Given the description of an element on the screen output the (x, y) to click on. 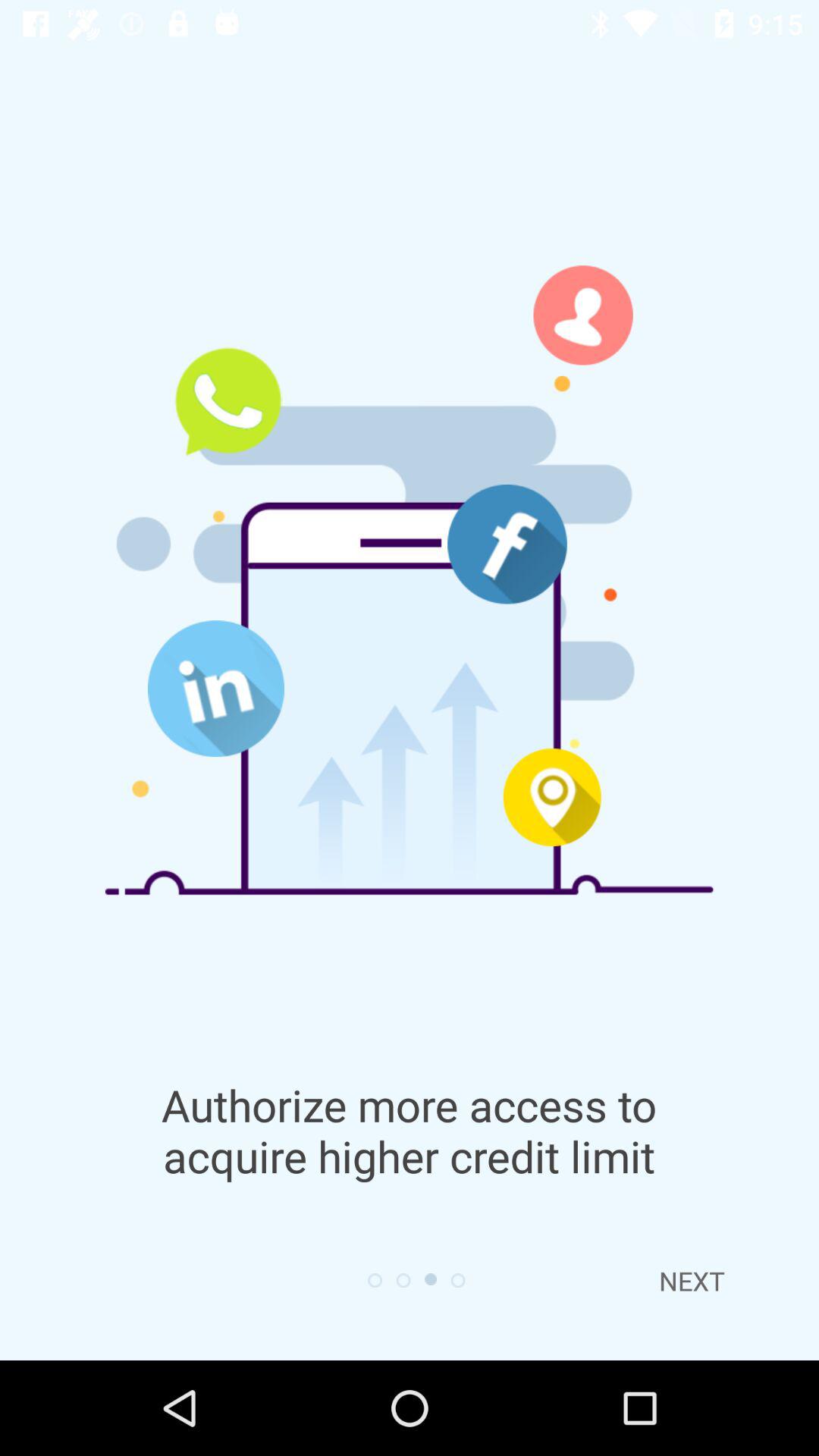
choose next at the bottom right corner (691, 1280)
